Given the description of an element on the screen output the (x, y) to click on. 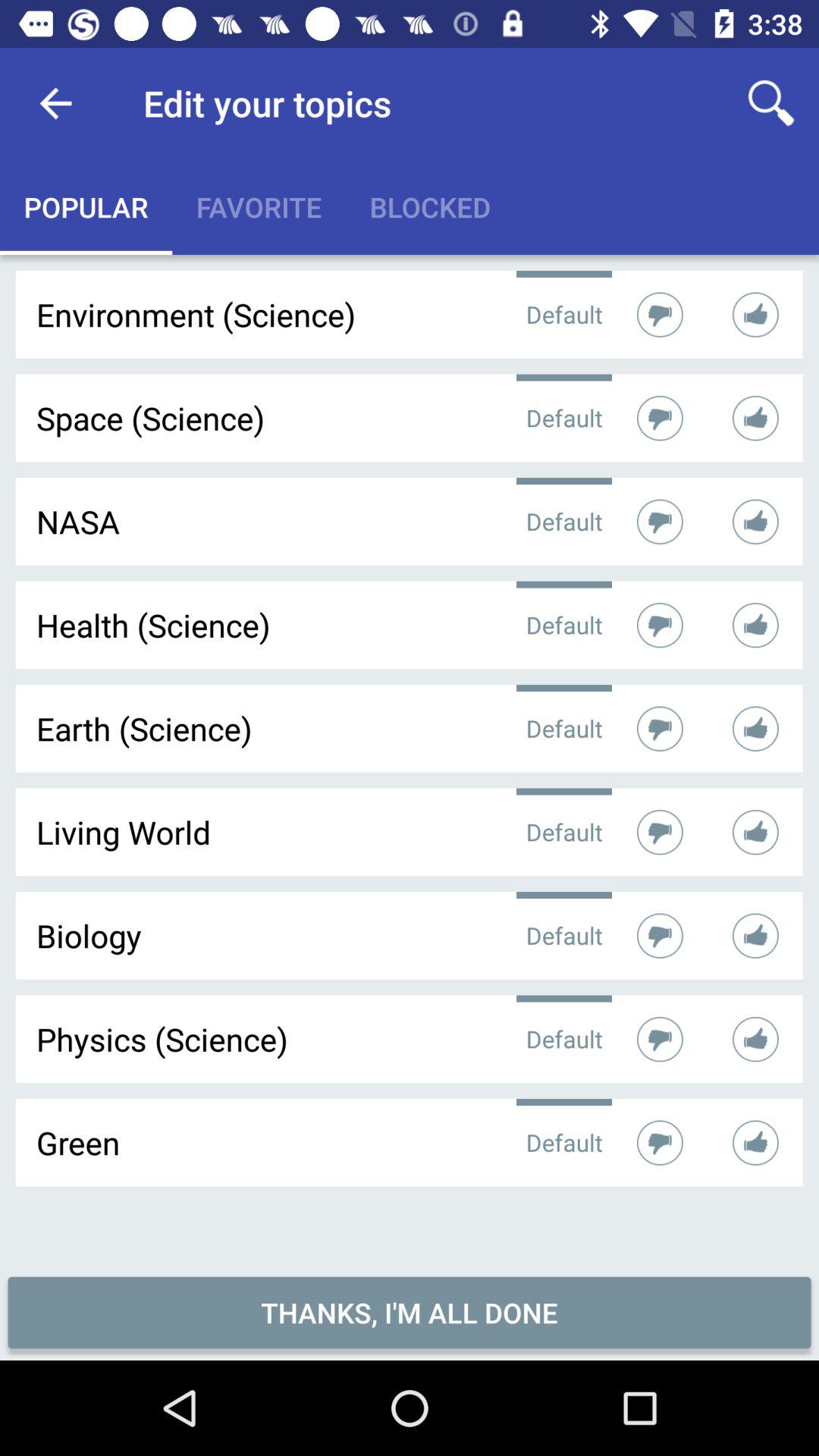
turn off the item next to the edit your topics (771, 103)
